Given the description of an element on the screen output the (x, y) to click on. 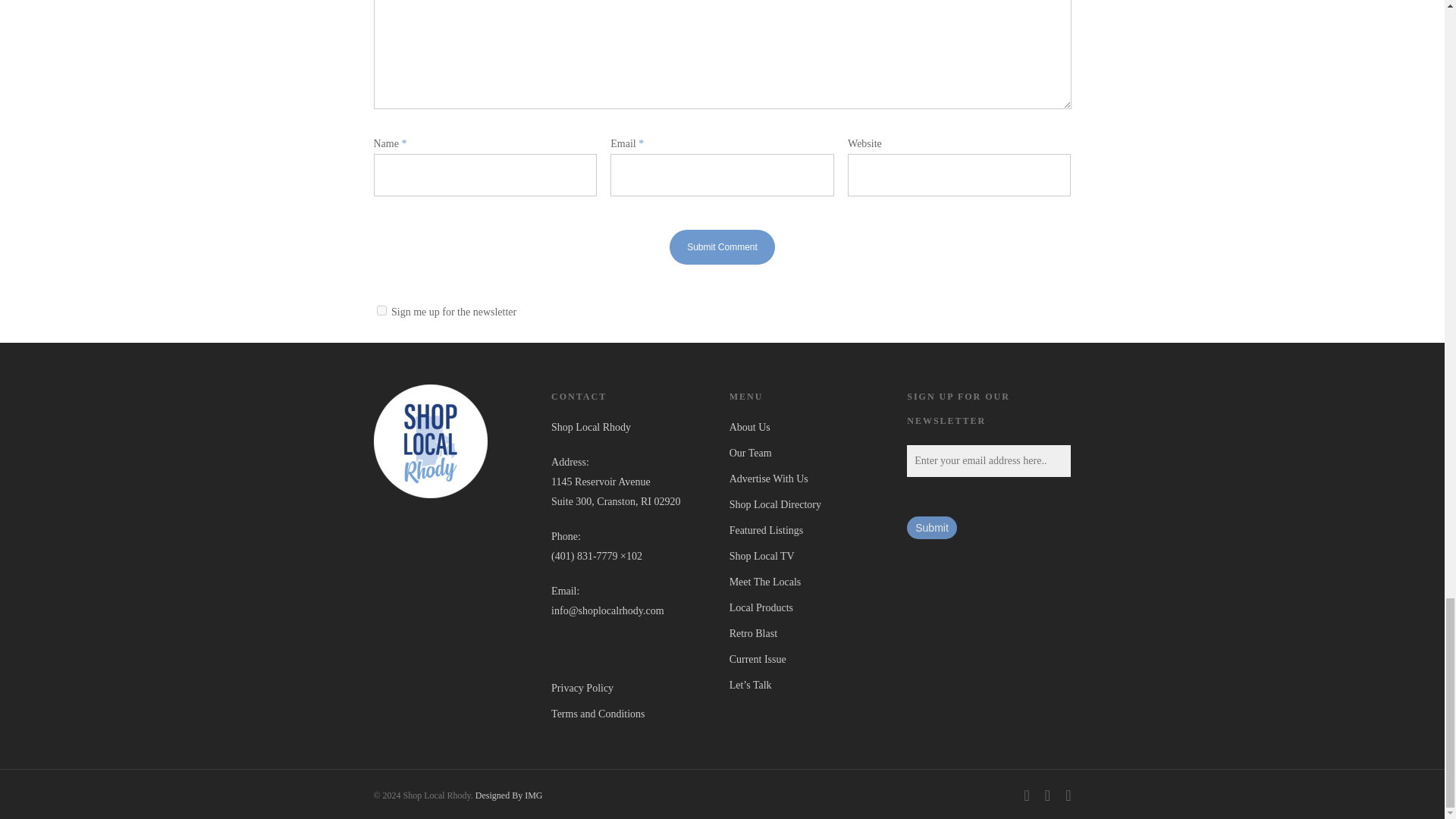
Submit (931, 527)
1 (380, 310)
Submit Comment (721, 247)
